Given the description of an element on the screen output the (x, y) to click on. 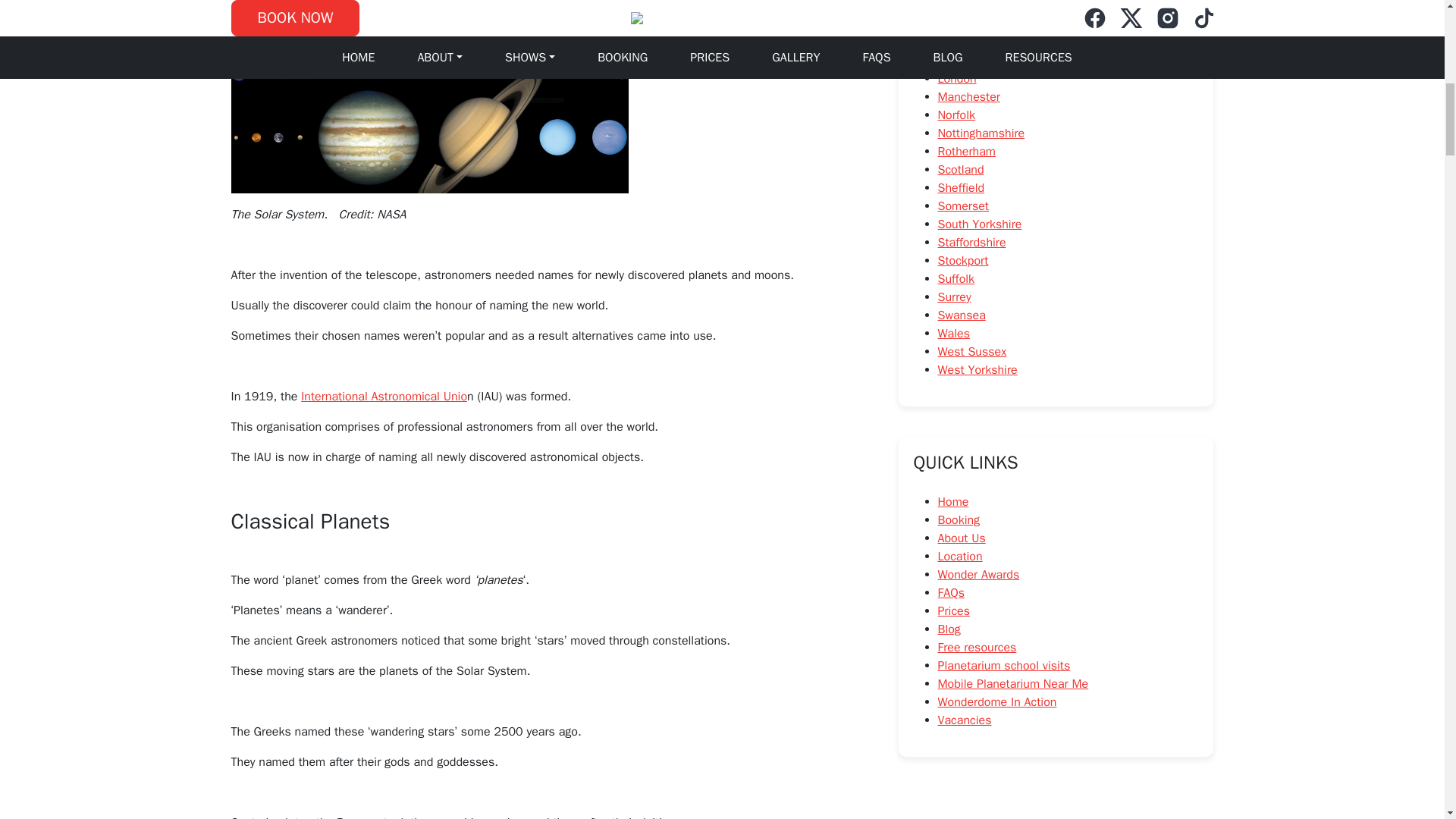
International Astronomical Unio (384, 396)
